Given the description of an element on the screen output the (x, y) to click on. 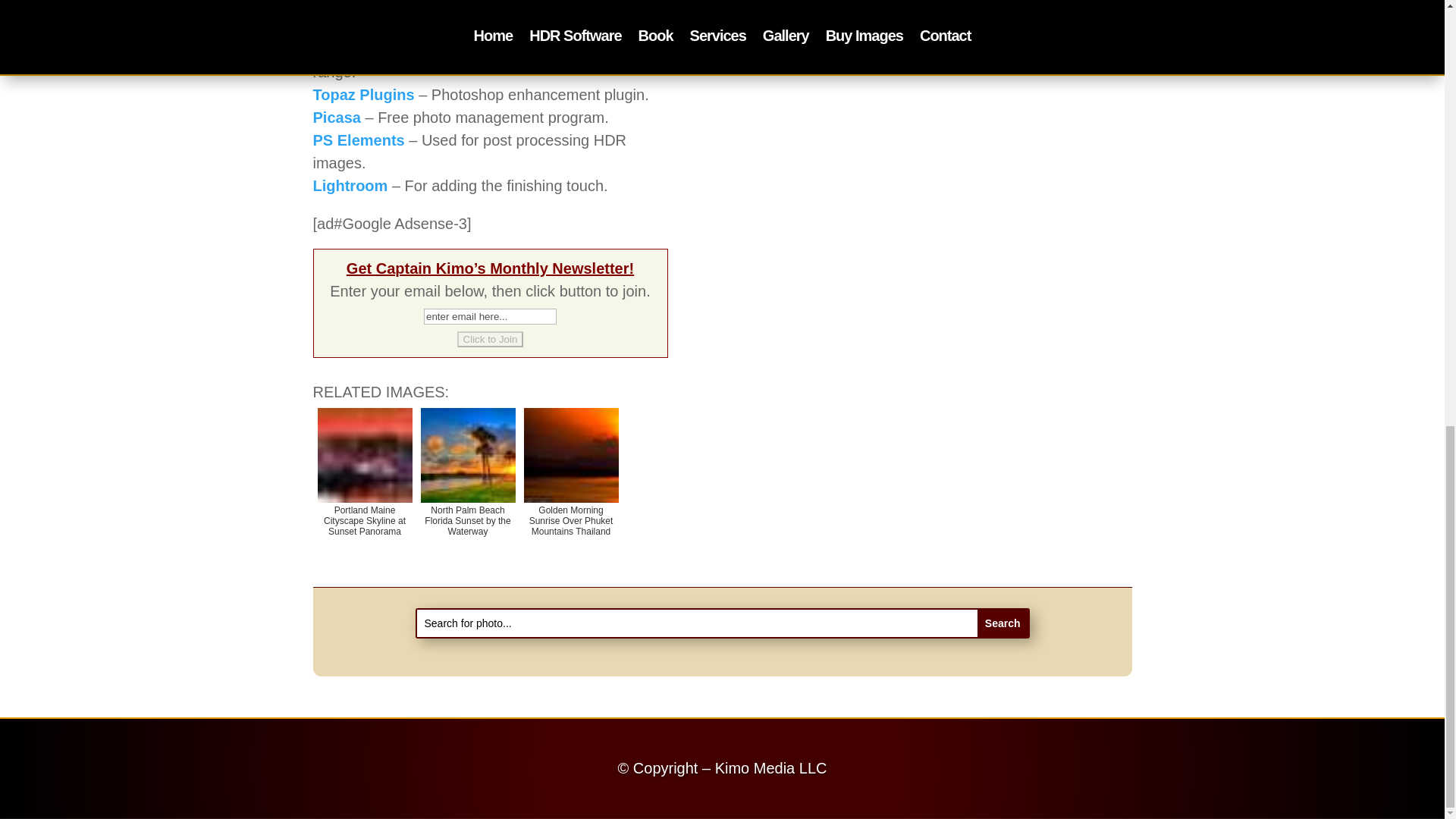
Topaz Plugins (363, 94)
Click to Join (490, 339)
Picasa (336, 117)
Lightroom (350, 185)
Search (1001, 623)
Search (1001, 623)
Photomatix Pro (369, 48)
Search (1001, 623)
enter email here... (489, 316)
Click to Join (490, 339)
PS Elements (358, 139)
